Given the description of an element on the screen output the (x, y) to click on. 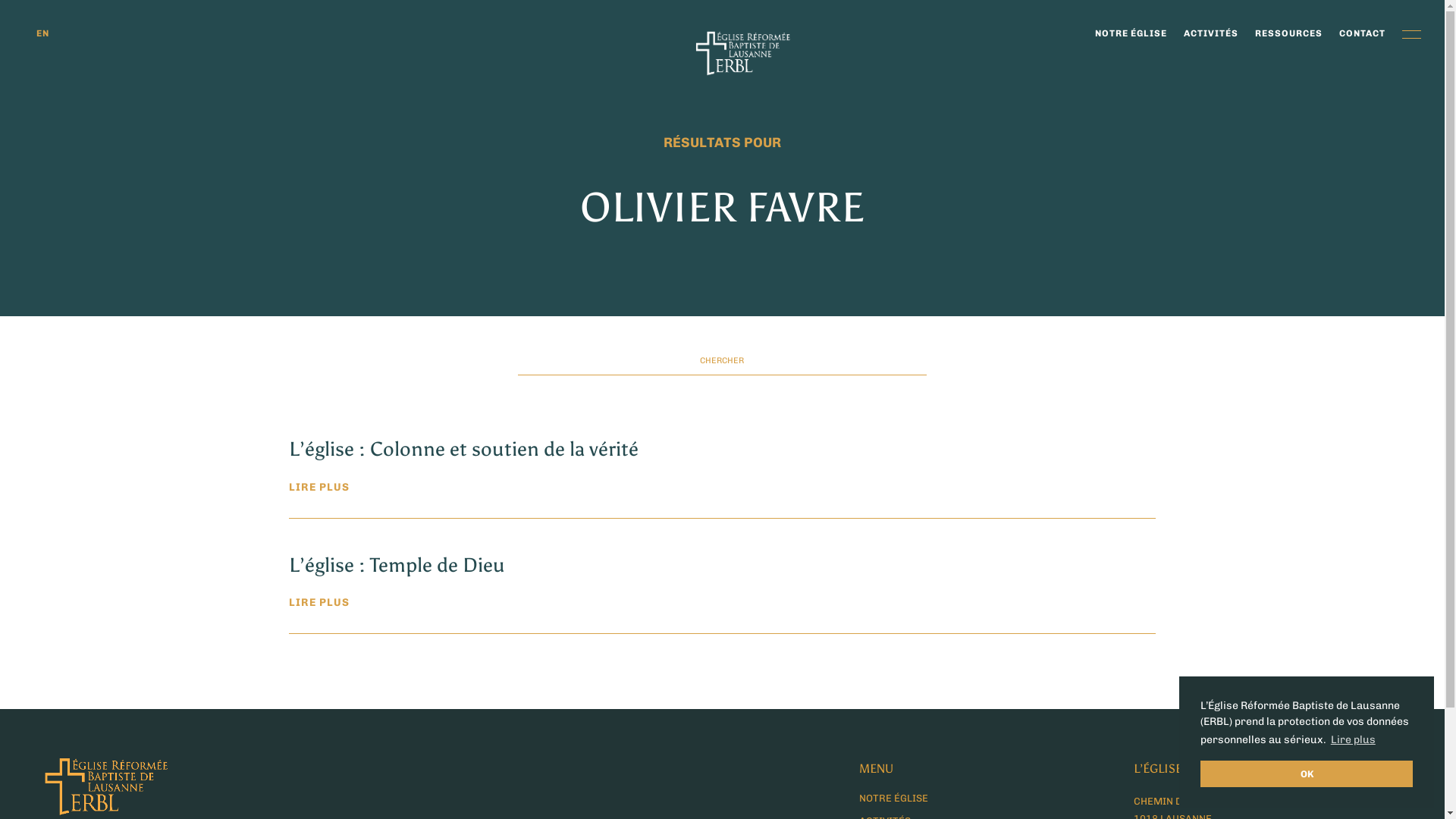
CONTACT Element type: text (1362, 36)
EN Element type: text (42, 36)
Lire plus Element type: text (1352, 739)
LIRE PLUS Element type: text (721, 487)
OK Element type: text (1306, 773)
RESSOURCES Element type: text (1288, 36)
LIRE PLUS Element type: text (721, 602)
Chercher Element type: text (28, 15)
